Given the description of an element on the screen output the (x, y) to click on. 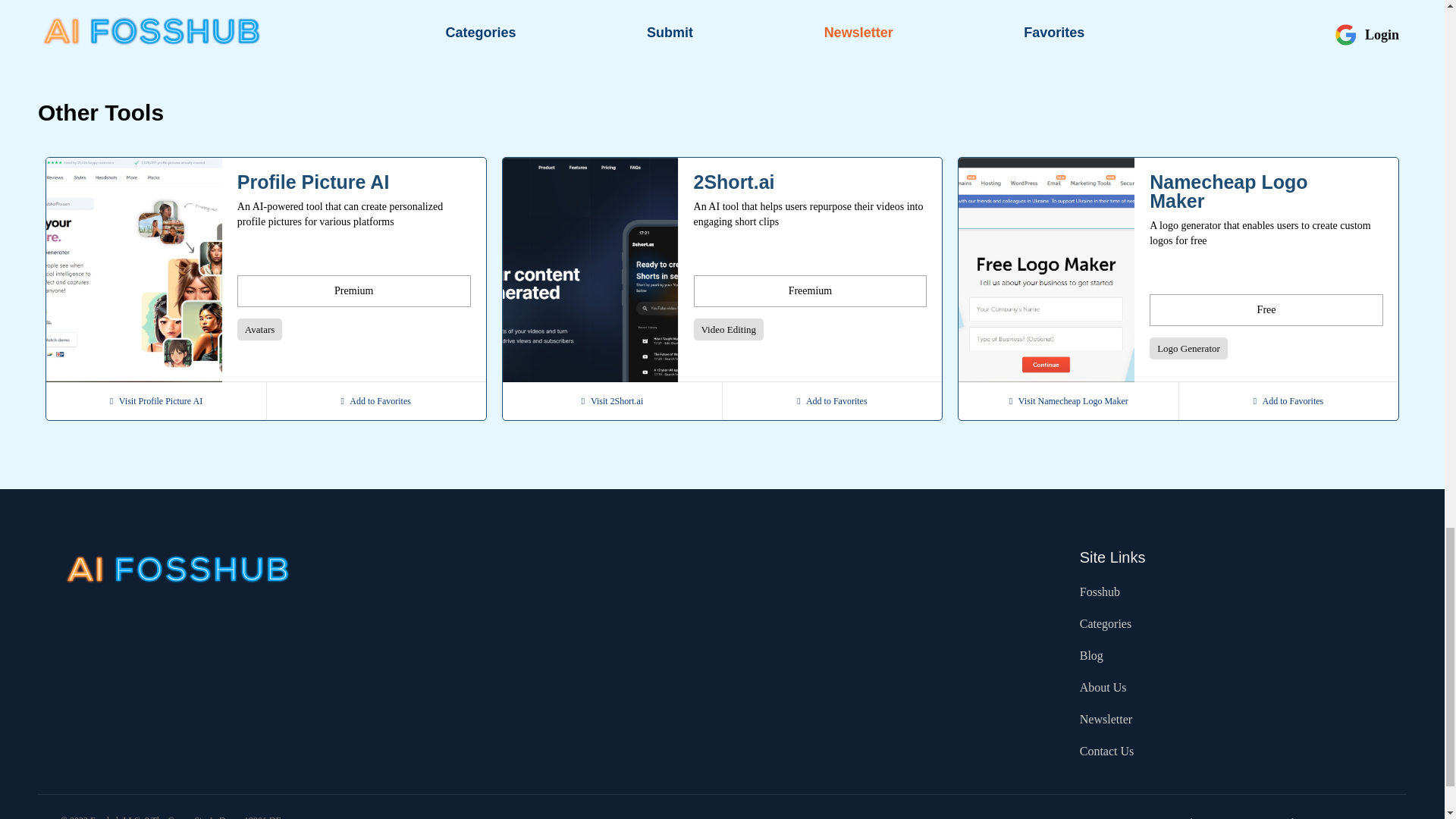
Newsletter (1106, 719)
Sign in to add favorites (1287, 401)
About Us (1103, 687)
Fosshub (1099, 591)
Profile Picture AI (342, 181)
Add to Favorites (832, 401)
Namecheap Logo Maker (1254, 191)
Add to Favorites (376, 401)
Contact Us (1355, 817)
Visit Namecheap Logo Maker (1067, 401)
